Given the description of an element on the screen output the (x, y) to click on. 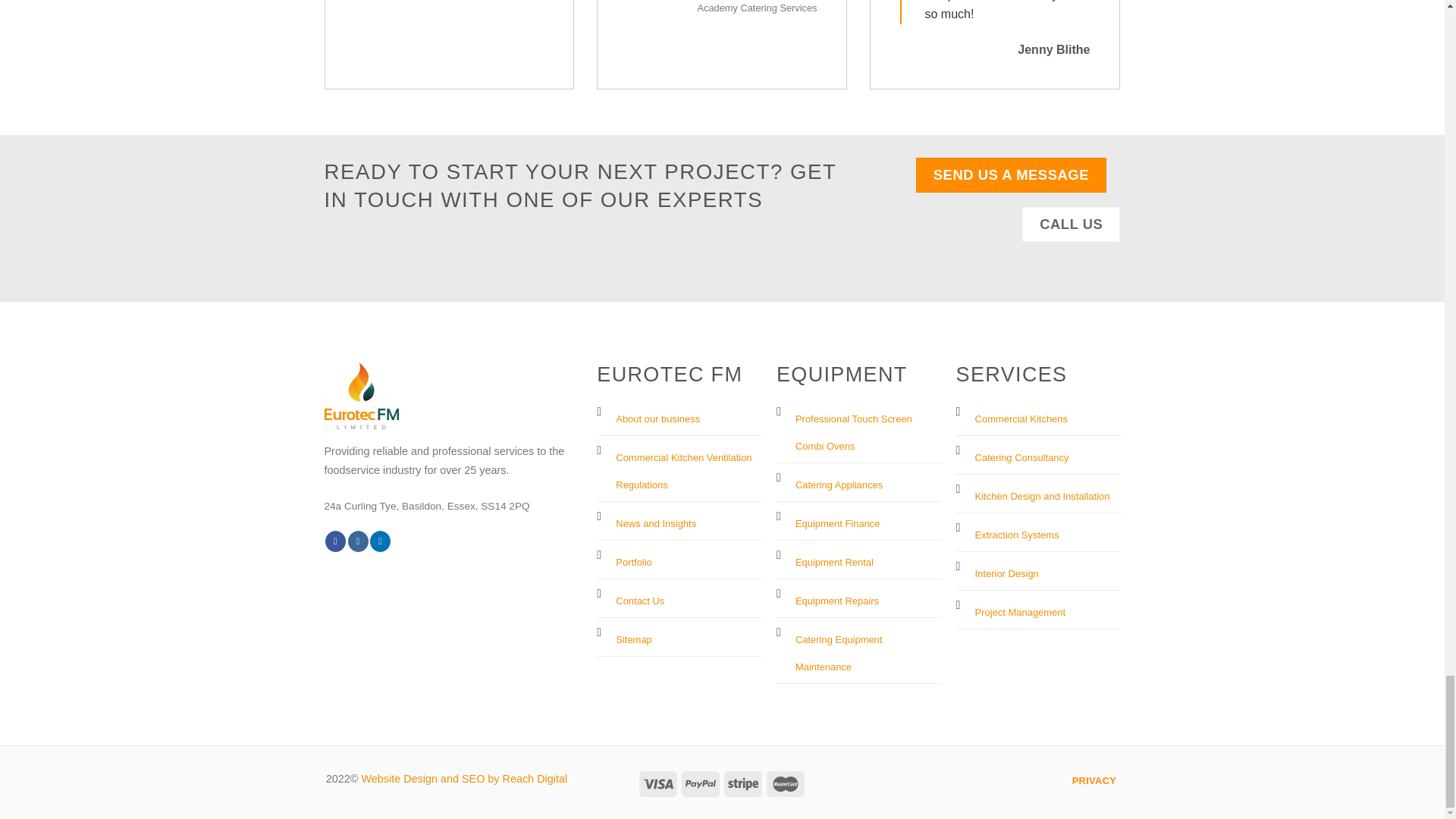
Commercial Kitchen Ventilation Regulations (683, 468)
Portfolio (633, 558)
About our business (657, 415)
SEND US A MESSAGE (1010, 175)
News and Insights (655, 520)
CALL US (1070, 224)
